Given the description of an element on the screen output the (x, y) to click on. 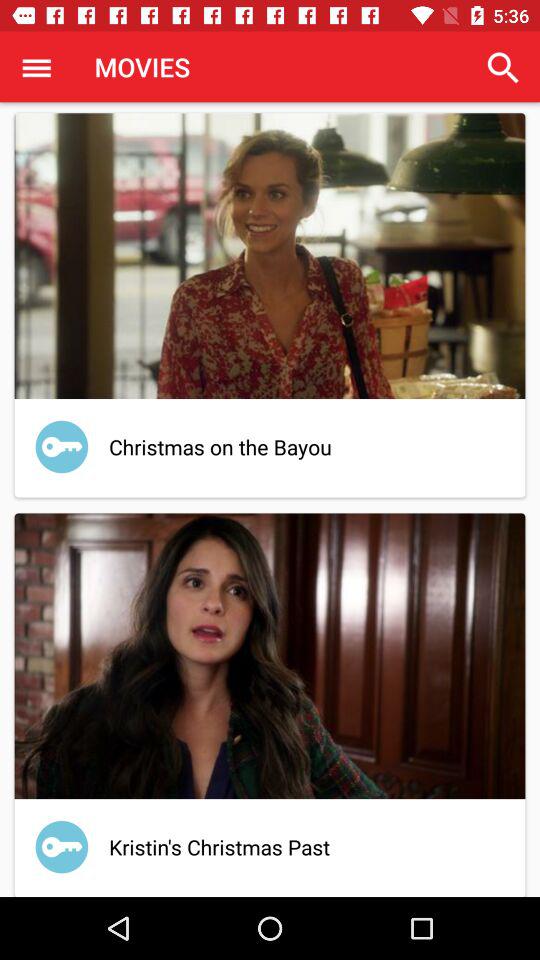
turn on the app to the left of the movies (36, 67)
